Given the description of an element on the screen output the (x, y) to click on. 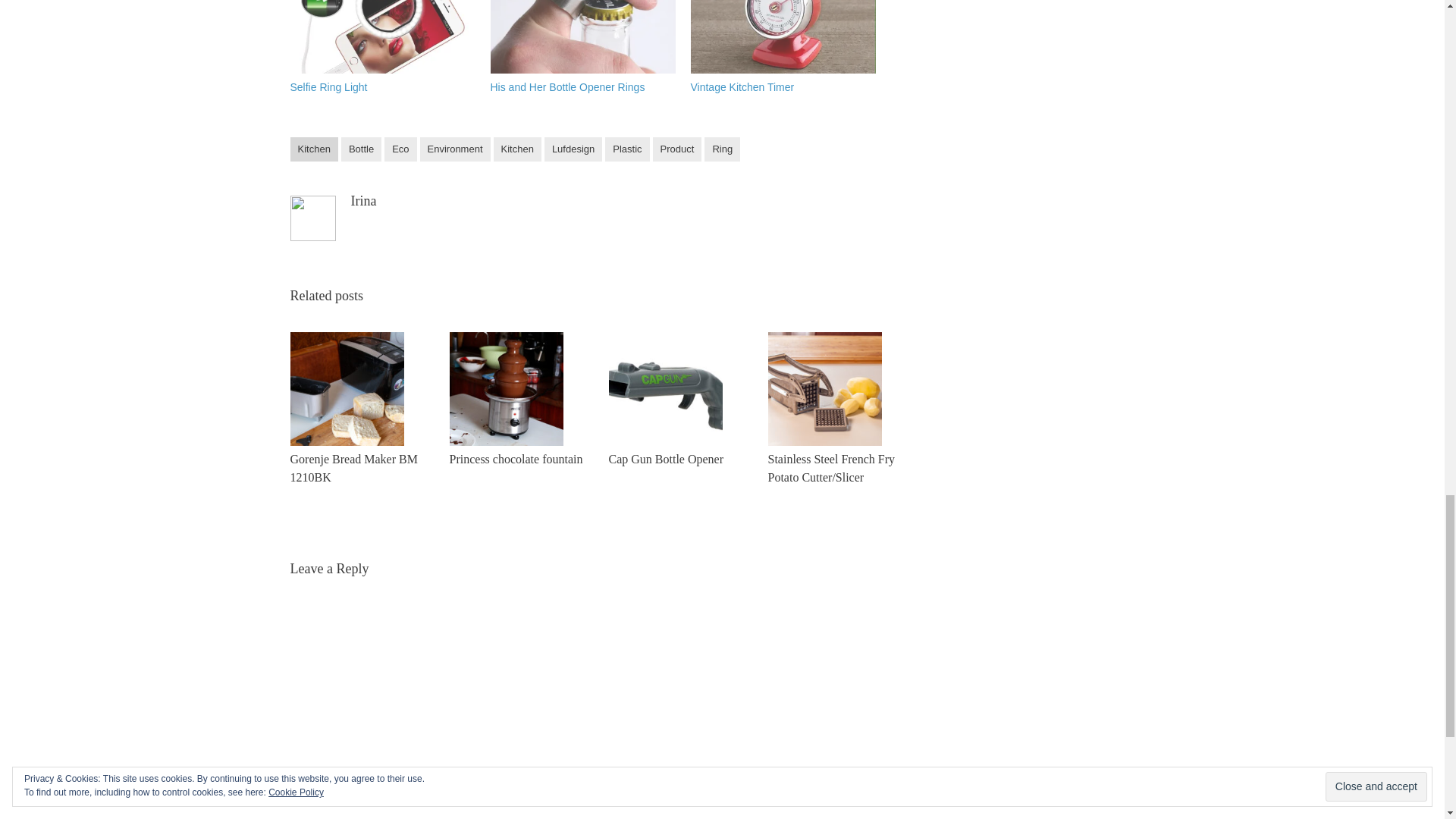
His and Her Bottle Opener Rings (567, 87)
Bottle (360, 149)
Kitchen (313, 149)
Selfie Ring Light (327, 87)
Kitchen (517, 149)
Selfie Ring Light (381, 36)
Environment (455, 149)
Eco (400, 149)
Vintage Kitchen Timer (741, 87)
